Given the description of an element on the screen output the (x, y) to click on. 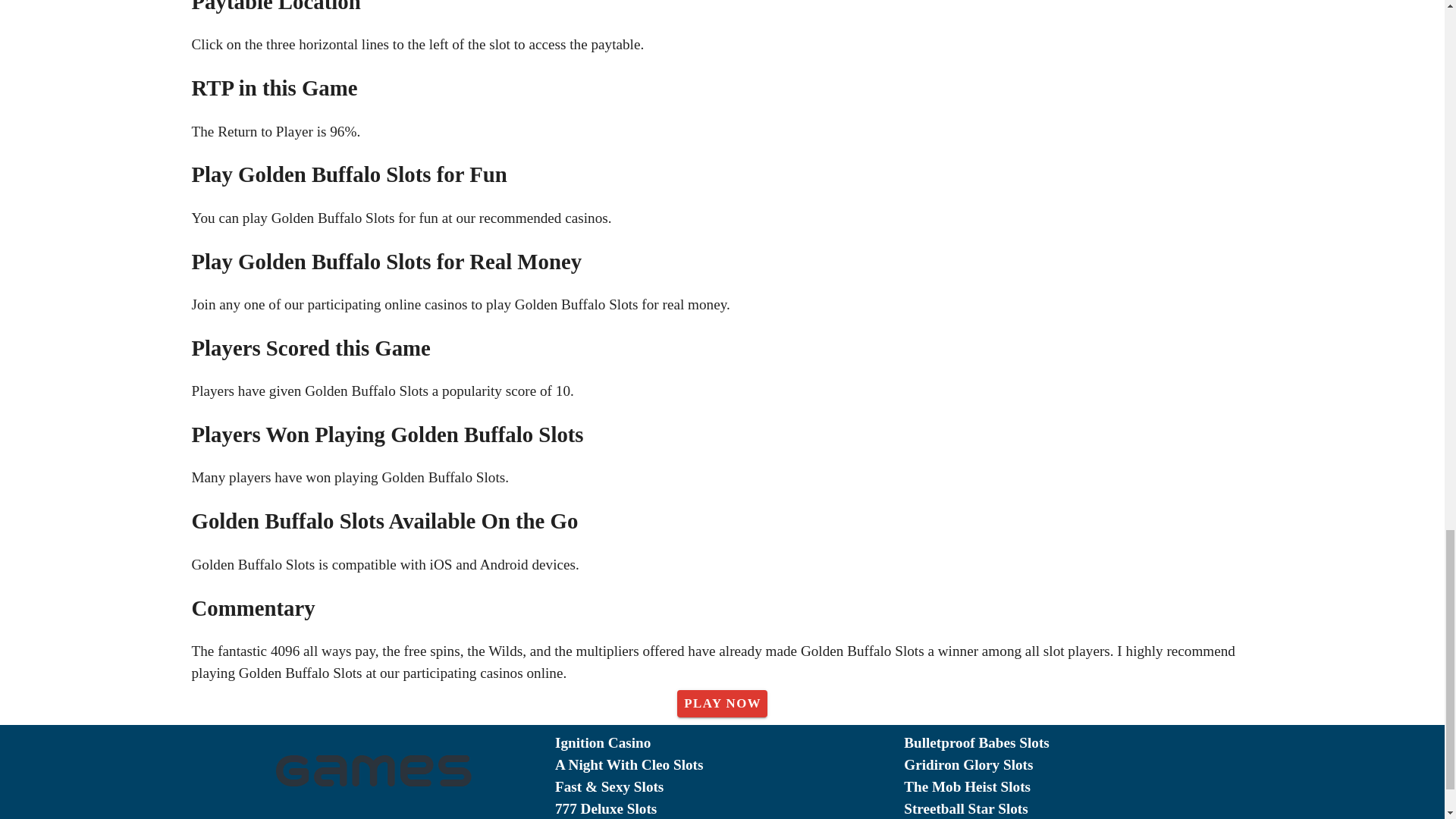
Ignition Casino (729, 743)
A Night With Cleo Slots (729, 765)
The Mob Heist Slots (1078, 787)
PLAY NOW (722, 703)
Streetball Star Slots (1078, 808)
Bulletproof Babes Slots (1078, 743)
777 Deluxe Slots (729, 808)
Gridiron Glory Slots (1078, 765)
